Given the description of an element on the screen output the (x, y) to click on. 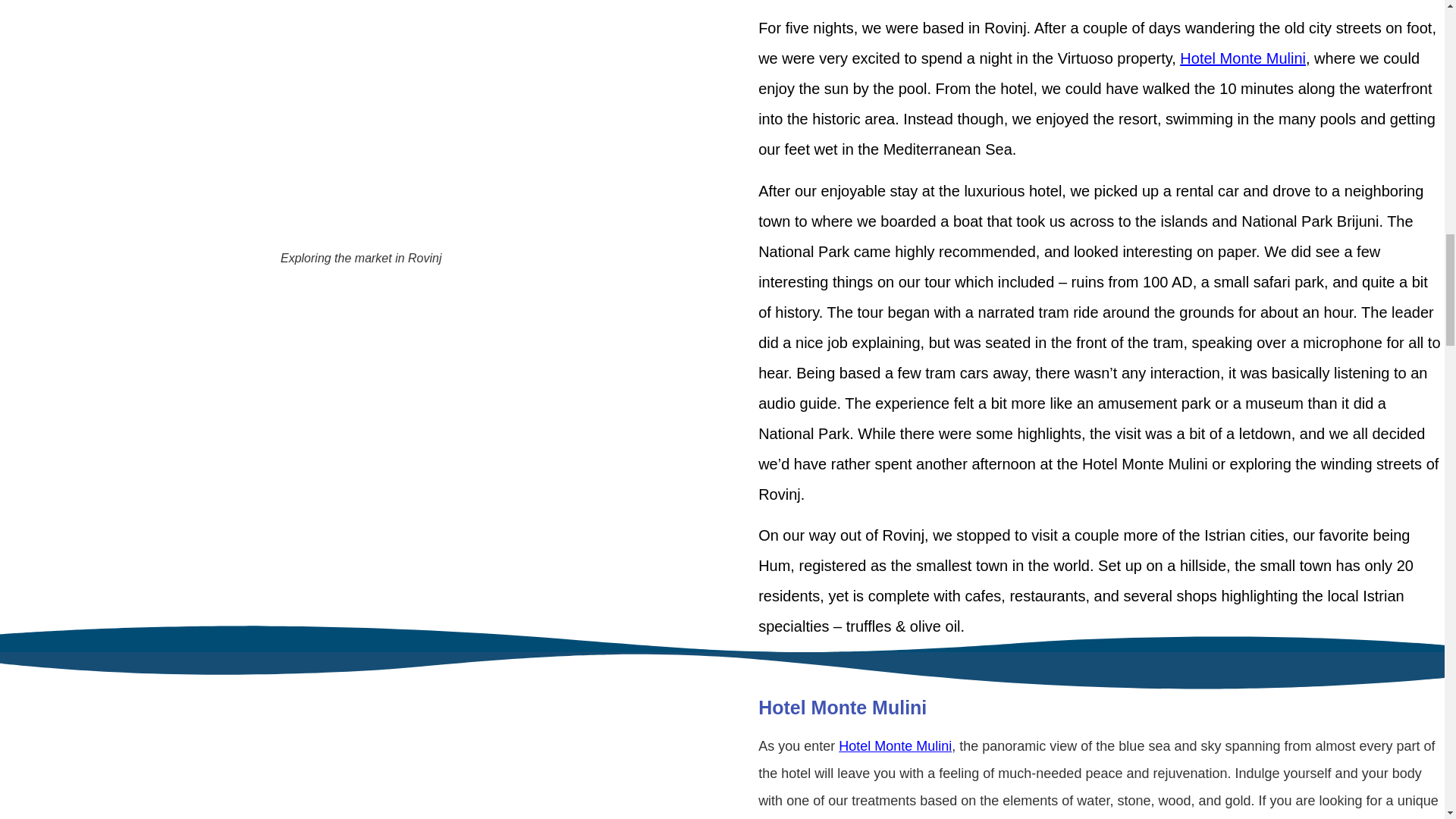
Hotel Monte Mulini (842, 707)
